Given the description of an element on the screen output the (x, y) to click on. 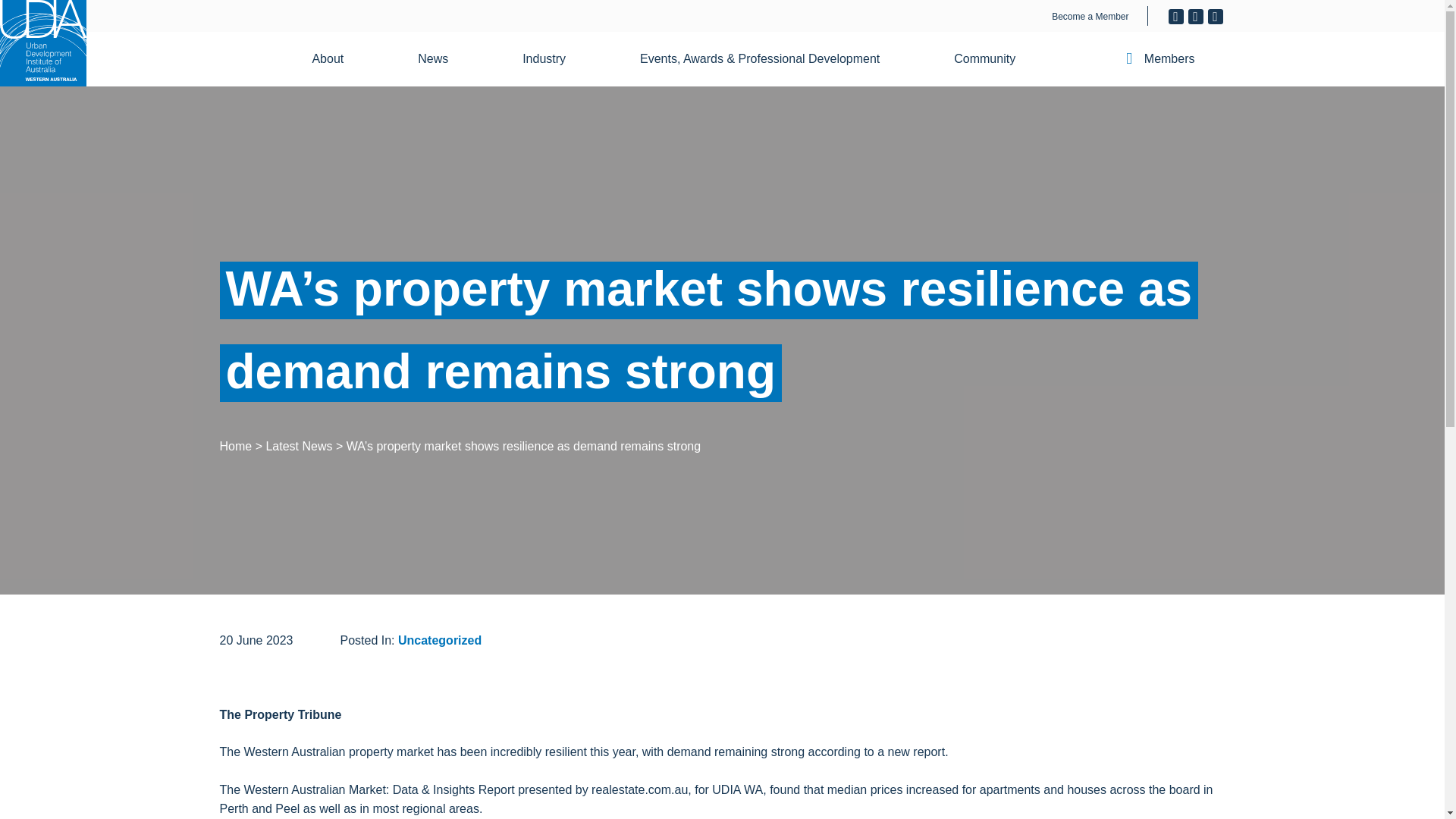
Industry (553, 59)
News (442, 59)
Become a Member (1089, 16)
About (336, 59)
Logo (42, 43)
